Given the description of an element on the screen output the (x, y) to click on. 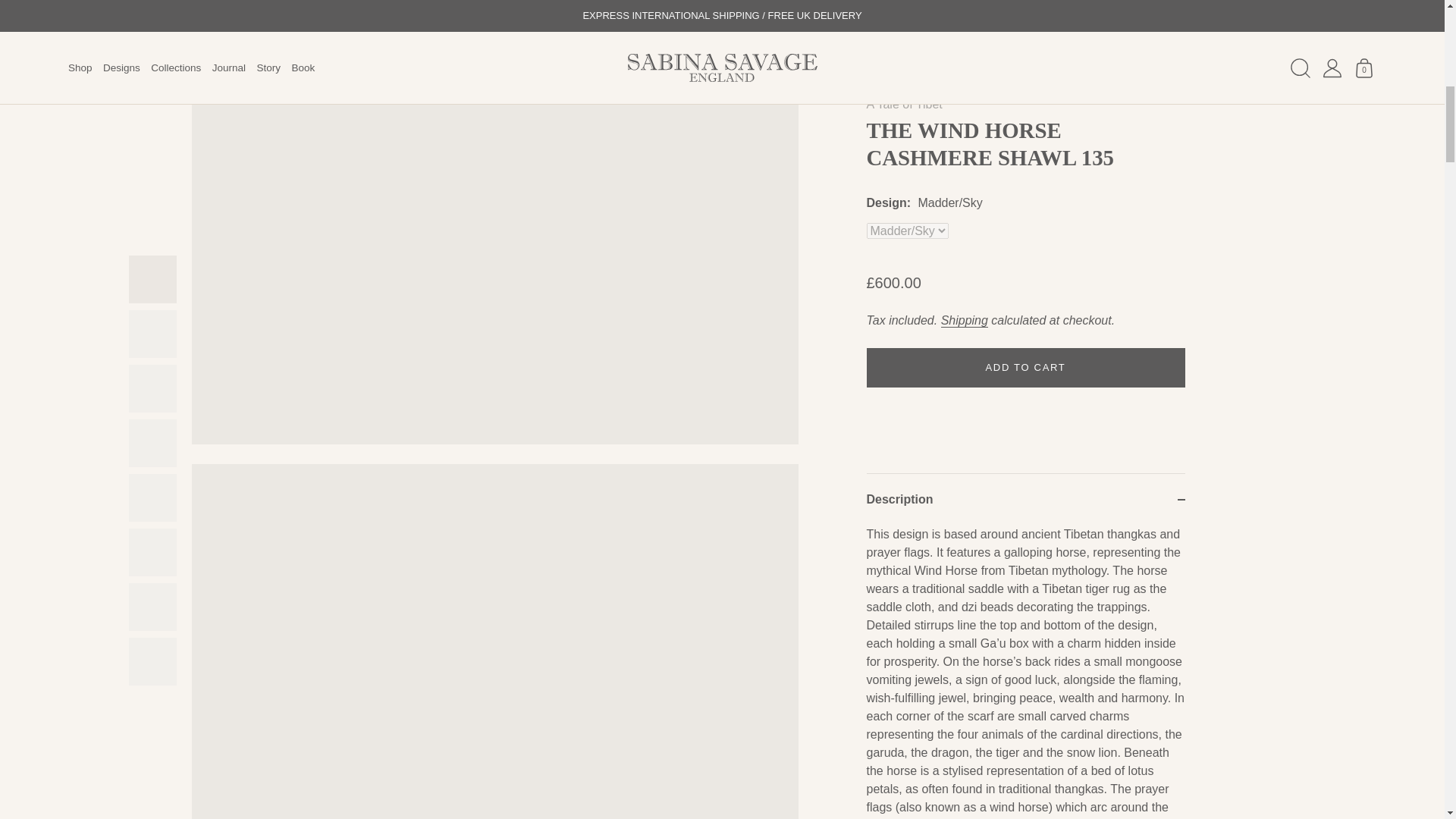
Contact (1084, 265)
